Given the description of an element on the screen output the (x, y) to click on. 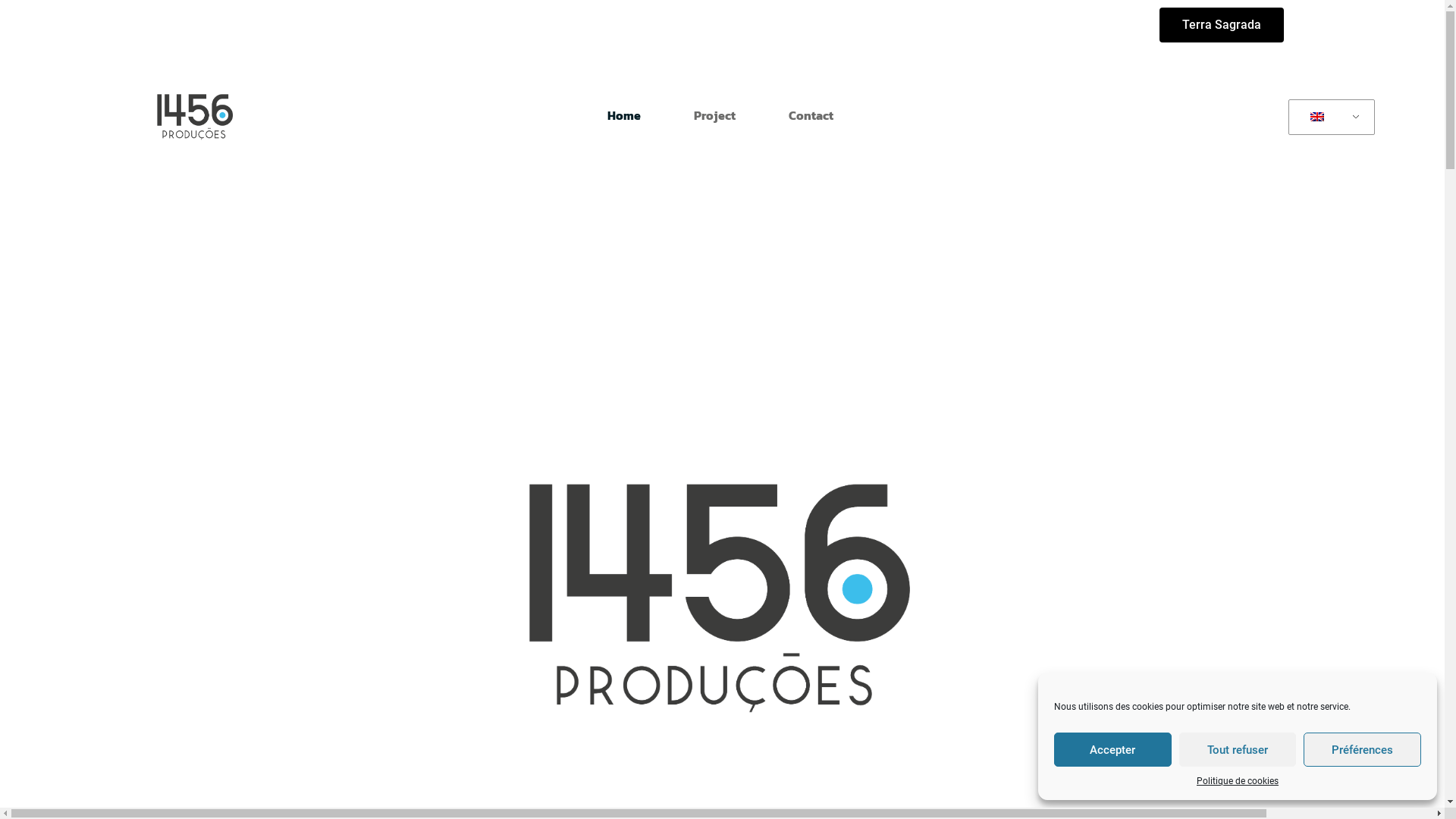
English Element type: hover (1317, 116)
Politique de cookies Element type: text (1237, 780)
Contact Element type: text (810, 114)
Home Element type: text (623, 114)
English Element type: hover (1328, 117)
Accepter Element type: text (1112, 749)
Terra Sagrada Element type: text (1220, 24)
Project Element type: text (714, 114)
Tout refuser Element type: text (1237, 749)
